Given the description of an element on the screen output the (x, y) to click on. 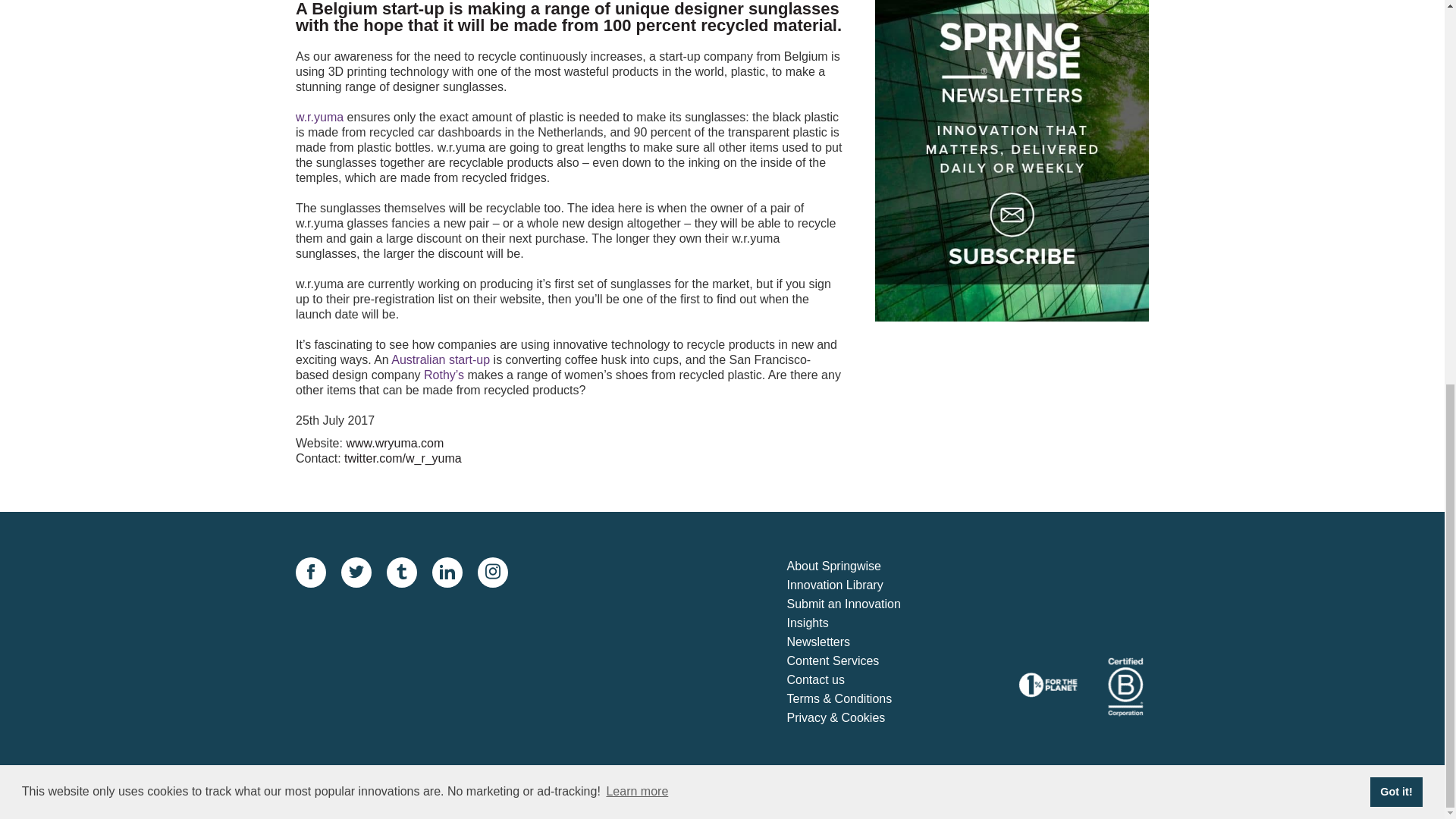
www.wryuma.com (395, 442)
Innovation Library (856, 585)
Australian start-up (440, 359)
Newsletters (856, 642)
Submit an Innovation (856, 604)
w.r.yuma (319, 116)
About Springwise (856, 566)
Got it! (1396, 69)
Insights (856, 623)
Learn more (636, 68)
Contact us (856, 680)
Content Services (856, 660)
